Given the description of an element on the screen output the (x, y) to click on. 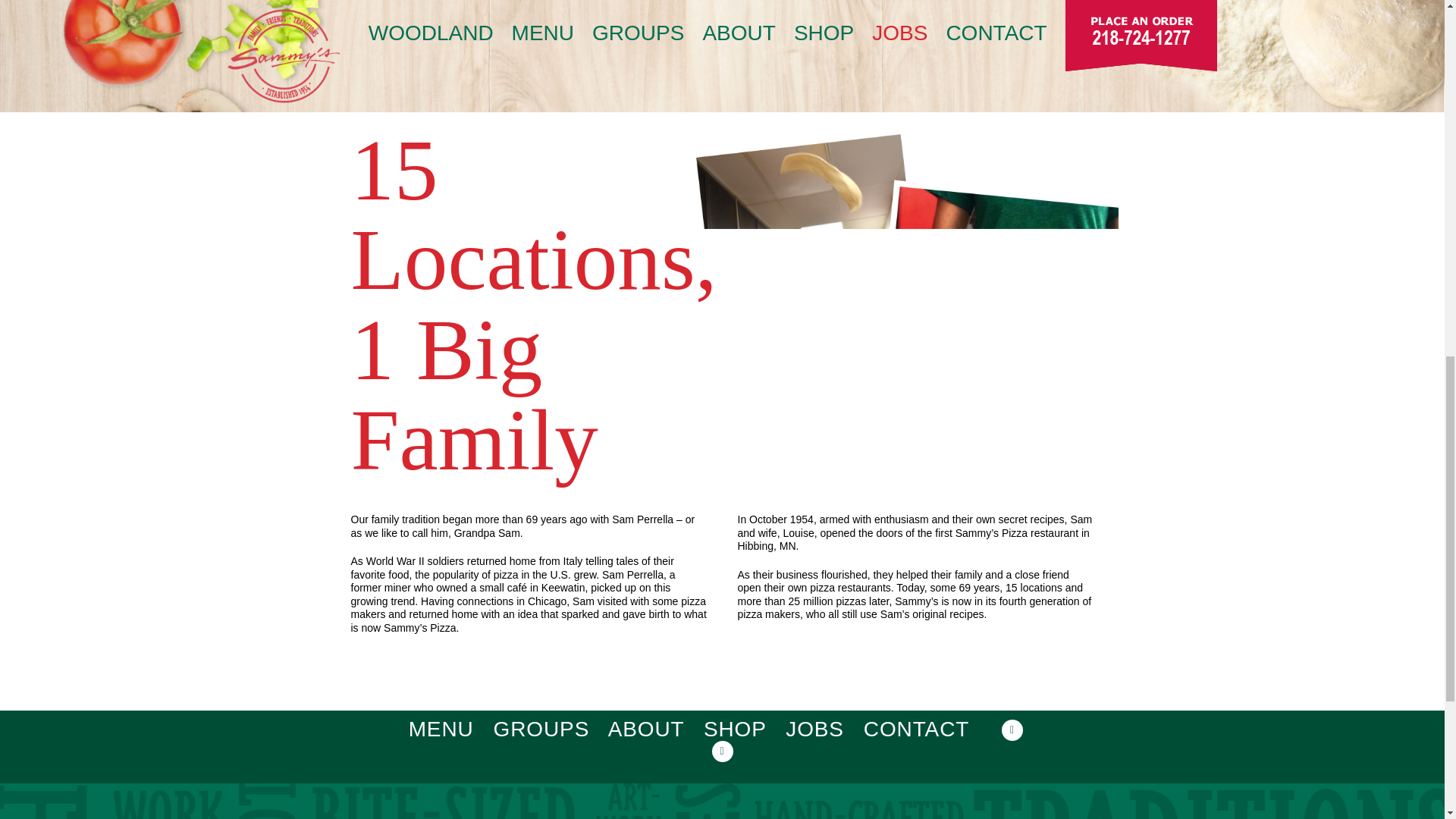
GROUPS (541, 729)
SHOP (734, 729)
APPLY TODAY (415, 29)
MENU (441, 729)
ABOUT (646, 729)
CONTACT (916, 729)
JOBS (815, 729)
